Given the description of an element on the screen output the (x, y) to click on. 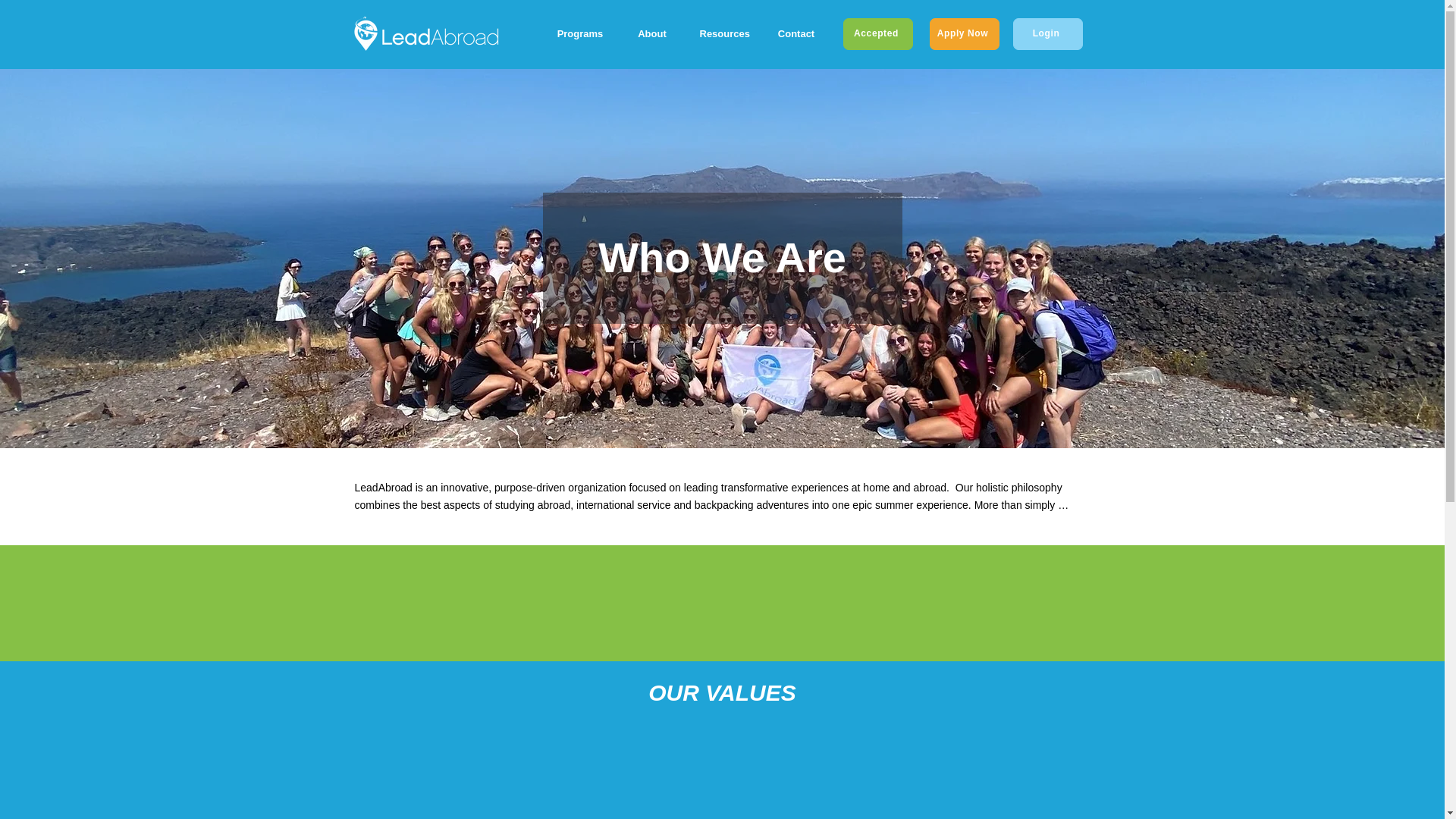
Login (1048, 33)
Accepted (877, 33)
Contact (795, 33)
Apply Now (964, 33)
